Given the description of an element on the screen output the (x, y) to click on. 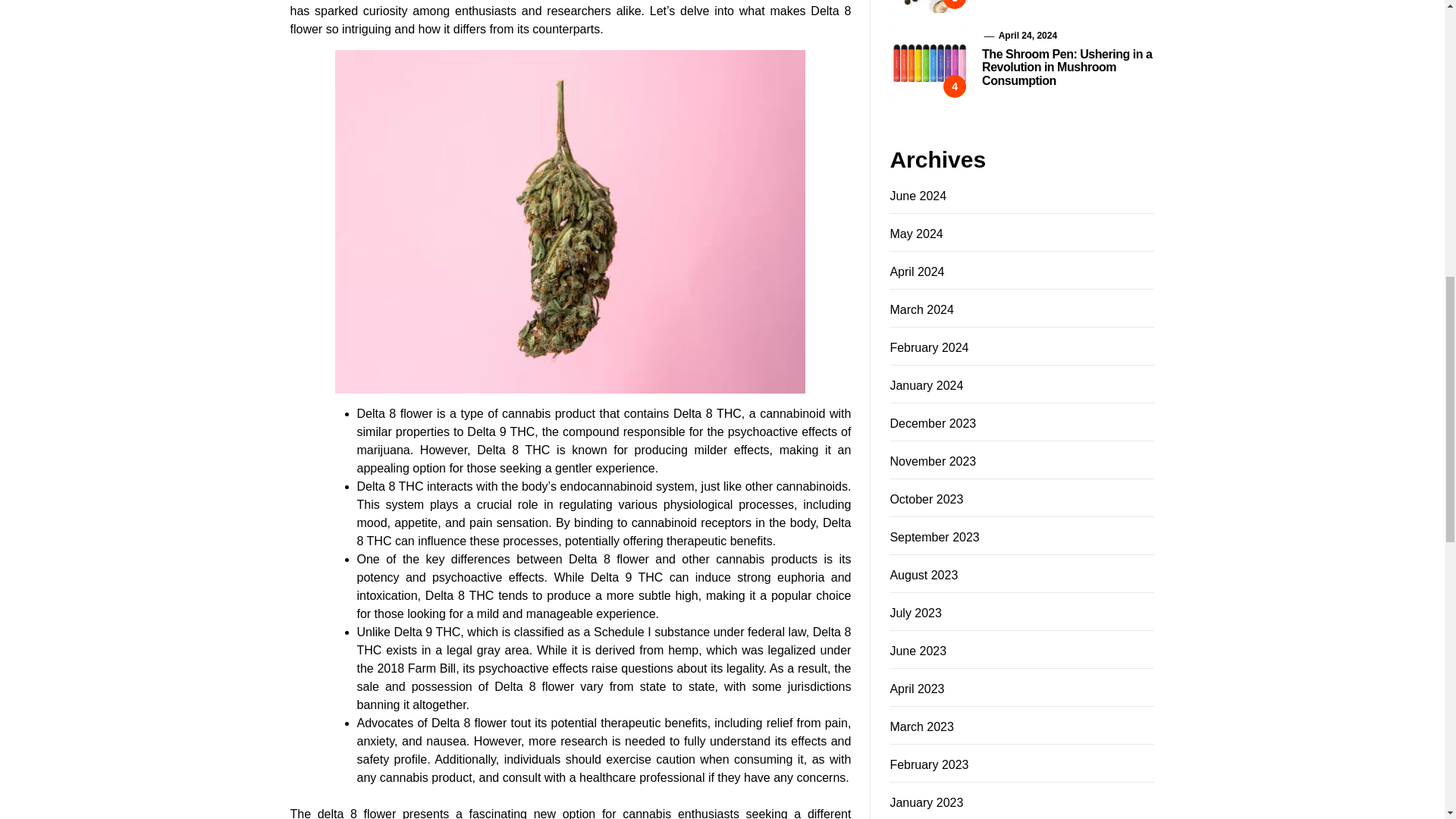
January 2024 (925, 385)
June 2024 (917, 195)
April 2024 (916, 271)
December 2023 (932, 422)
February 2024 (928, 347)
May 2024 (915, 233)
March 2024 (921, 309)
